Given the description of an element on the screen output the (x, y) to click on. 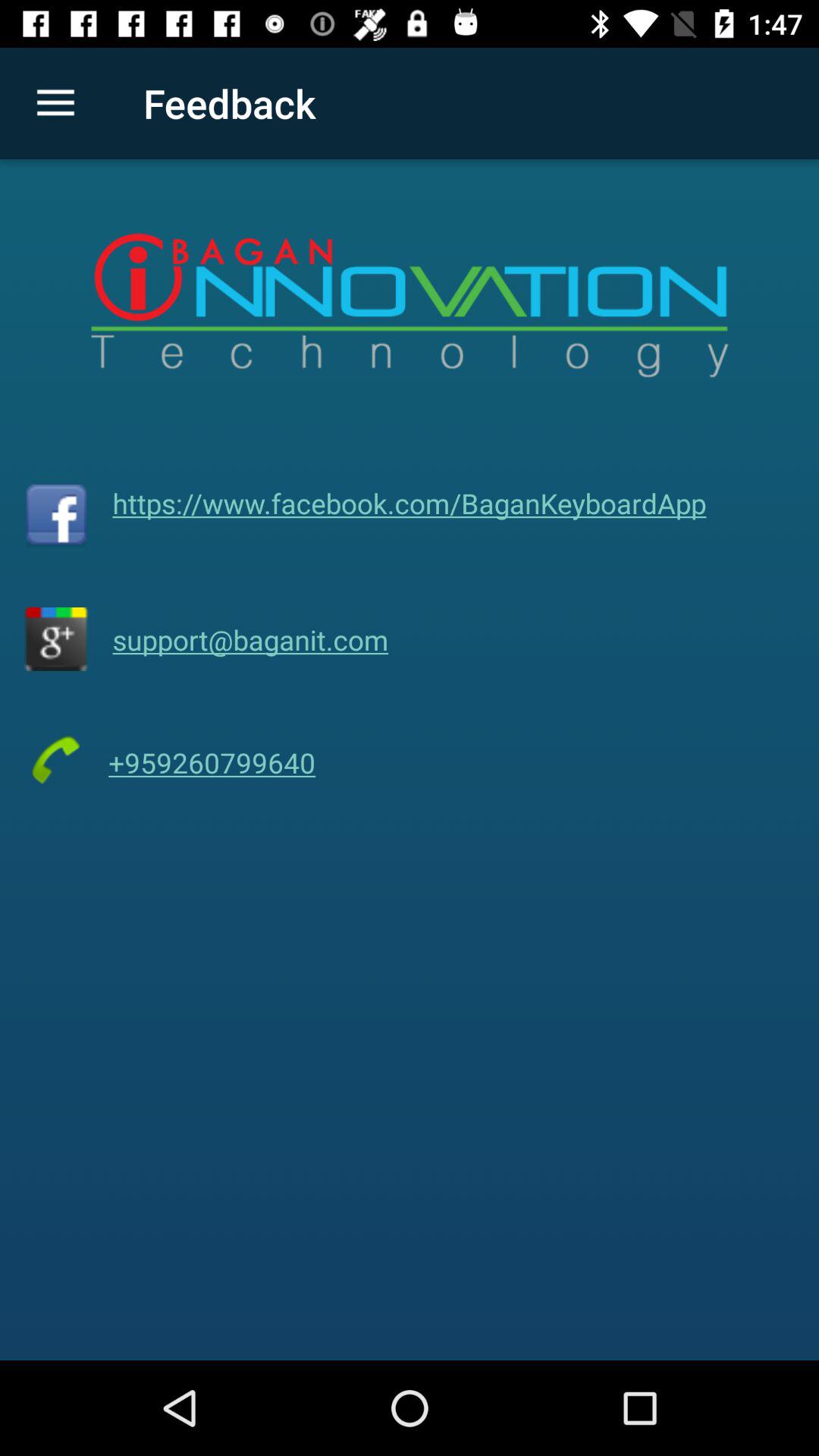
turn off item to the left of the feedback item (55, 103)
